Given the description of an element on the screen output the (x, y) to click on. 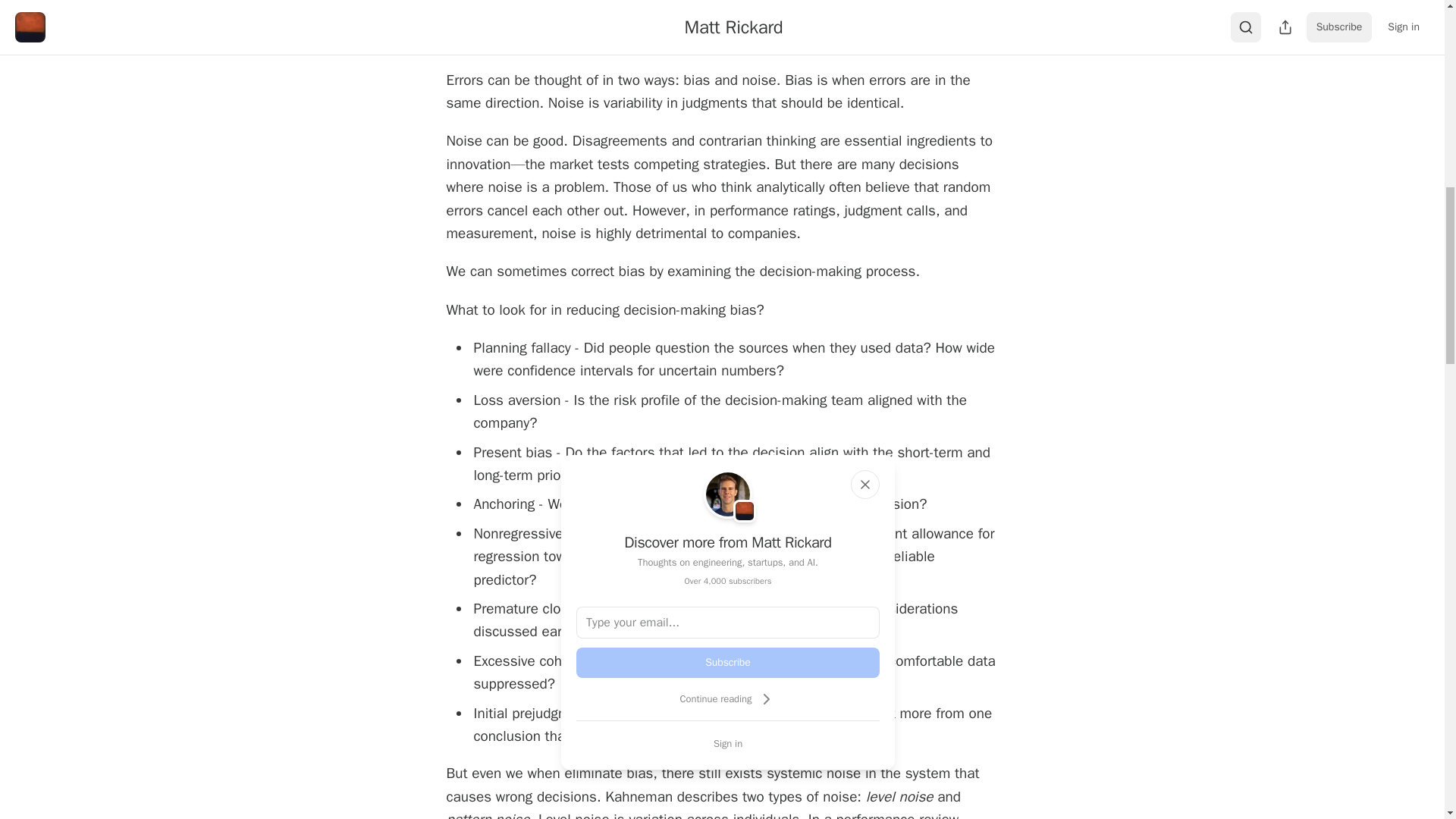
Sign in (727, 743)
Subscribe (727, 662)
